Given the description of an element on the screen output the (x, y) to click on. 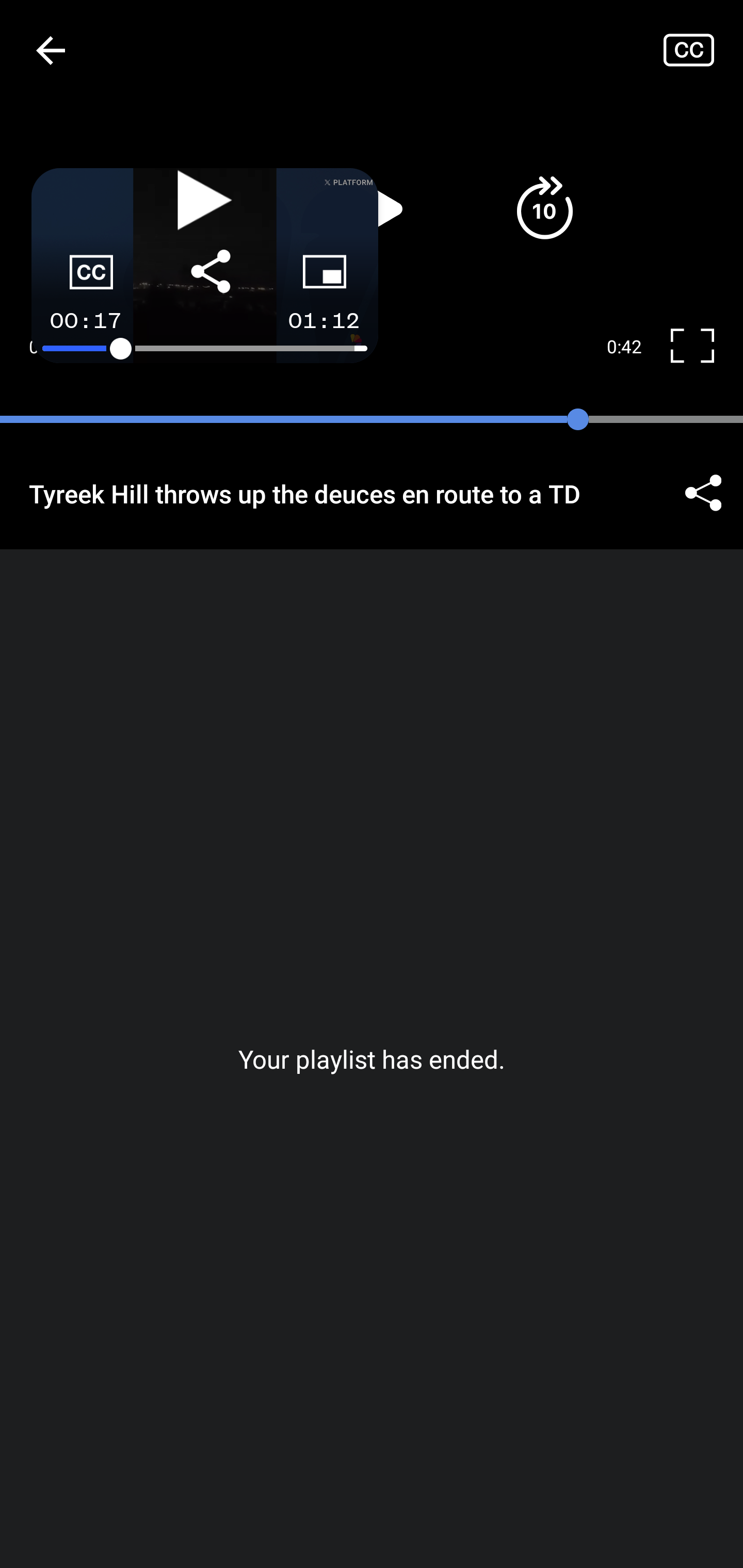
Navigate up (50, 50)
Closed captions  (703, 49)
Rewind 10 seconds  (197, 208)
Fast forward 10 seconds  (544, 208)
Fullscreen  (699, 346)
Share © (703, 493)
